Given the description of an element on the screen output the (x, y) to click on. 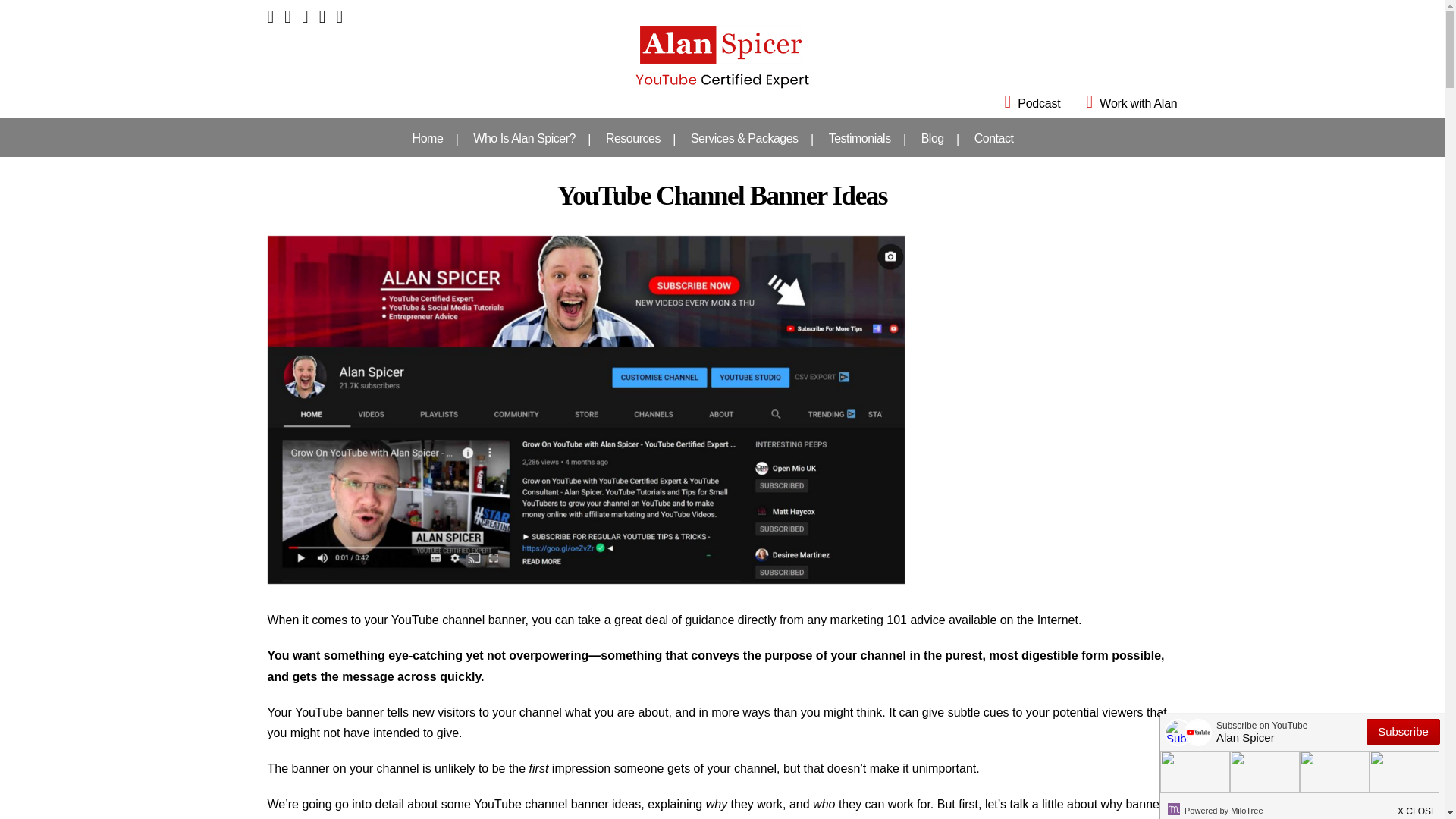
Podcast (1021, 103)
Work with Alan (1120, 103)
Home (427, 138)
Who Is Alan Spicer? (524, 138)
Contact (994, 138)
Resources (633, 138)
Blog (932, 138)
Testimonials (859, 138)
